Given the description of an element on the screen output the (x, y) to click on. 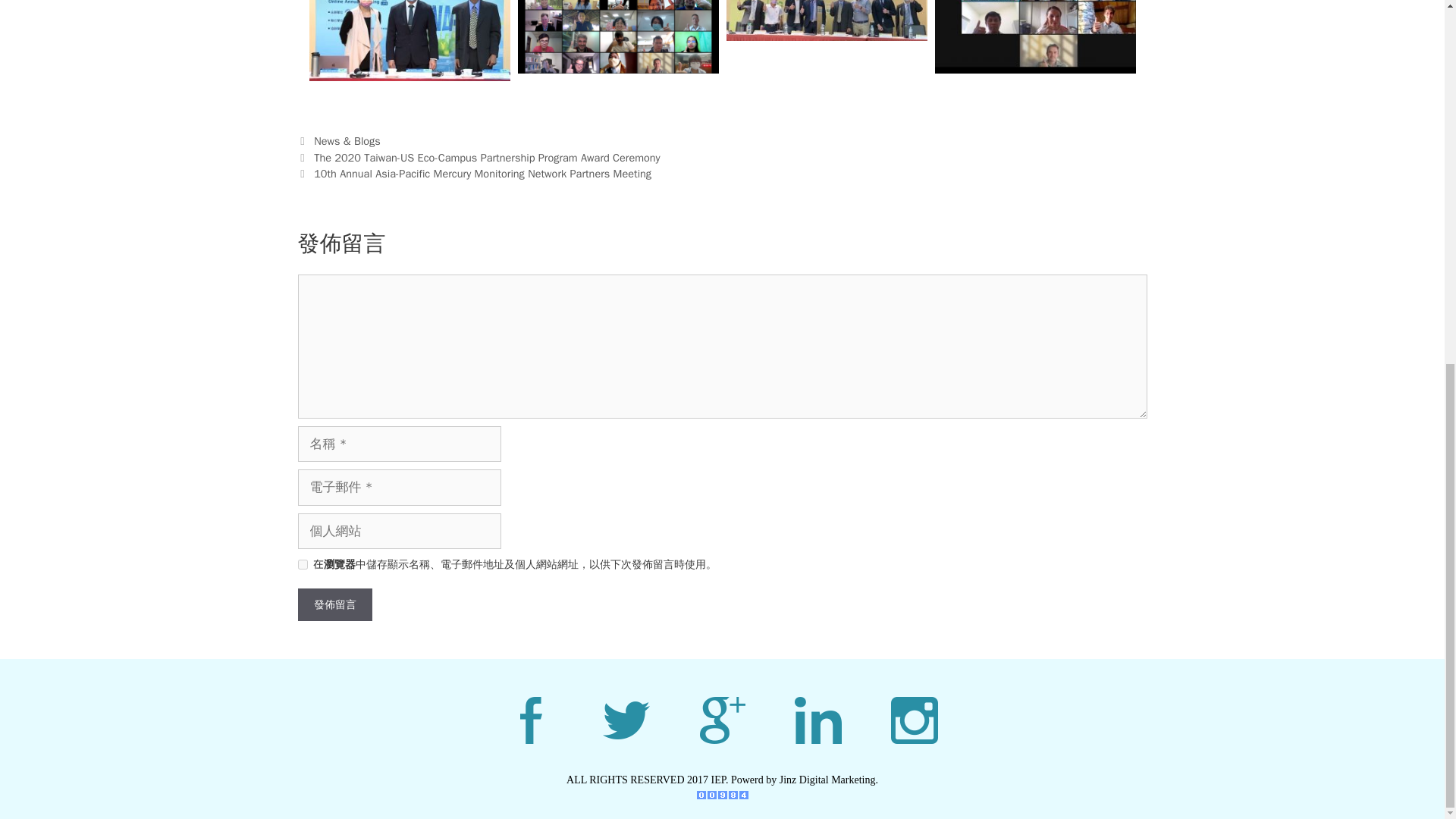
twitter (625, 719)
yes (302, 564)
instagram (913, 719)
linkedin (817, 719)
google (721, 719)
facebook (529, 719)
